Given the description of an element on the screen output the (x, y) to click on. 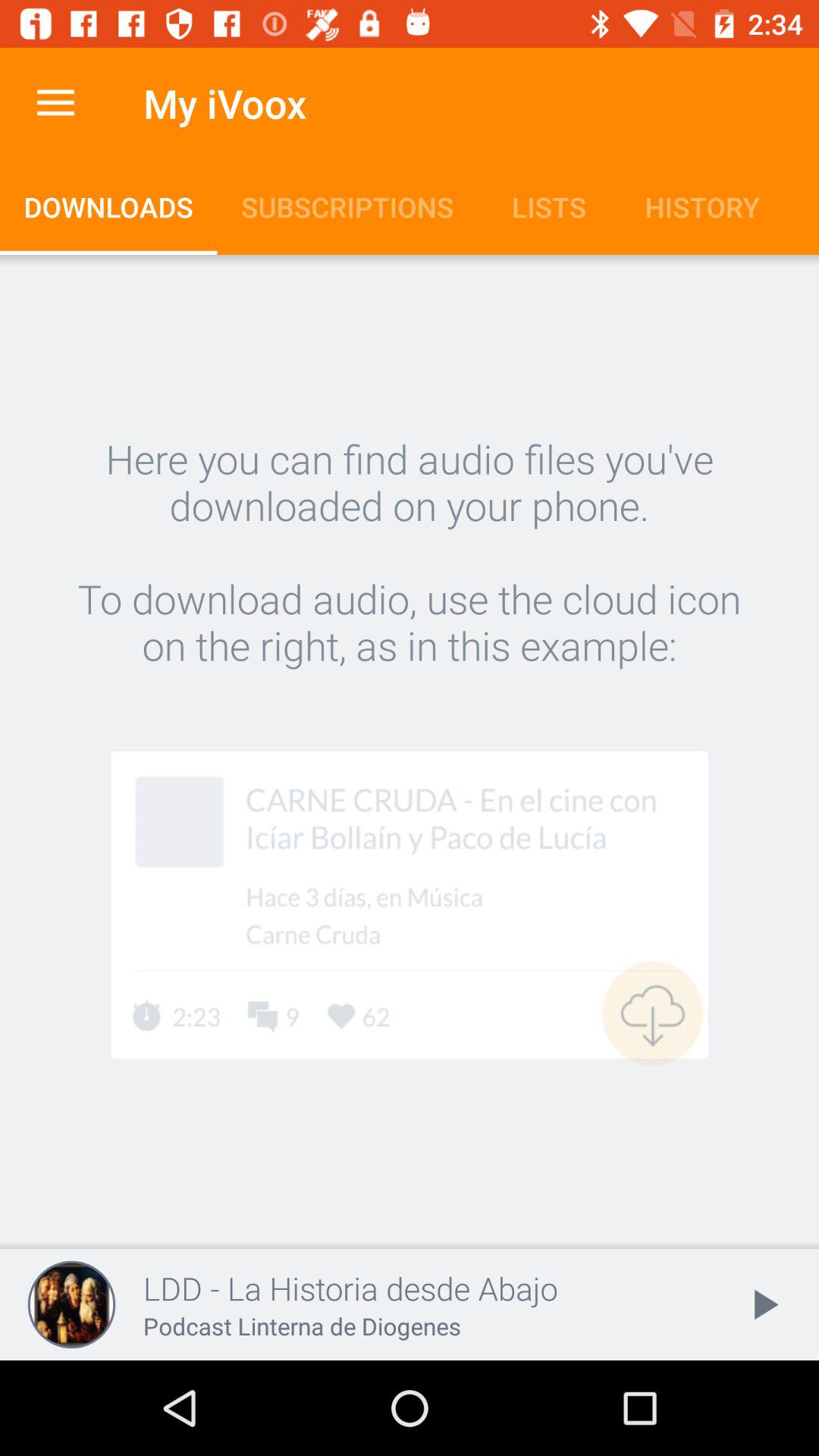
turn on the item next to ldd la historia (763, 1304)
